Given the description of an element on the screen output the (x, y) to click on. 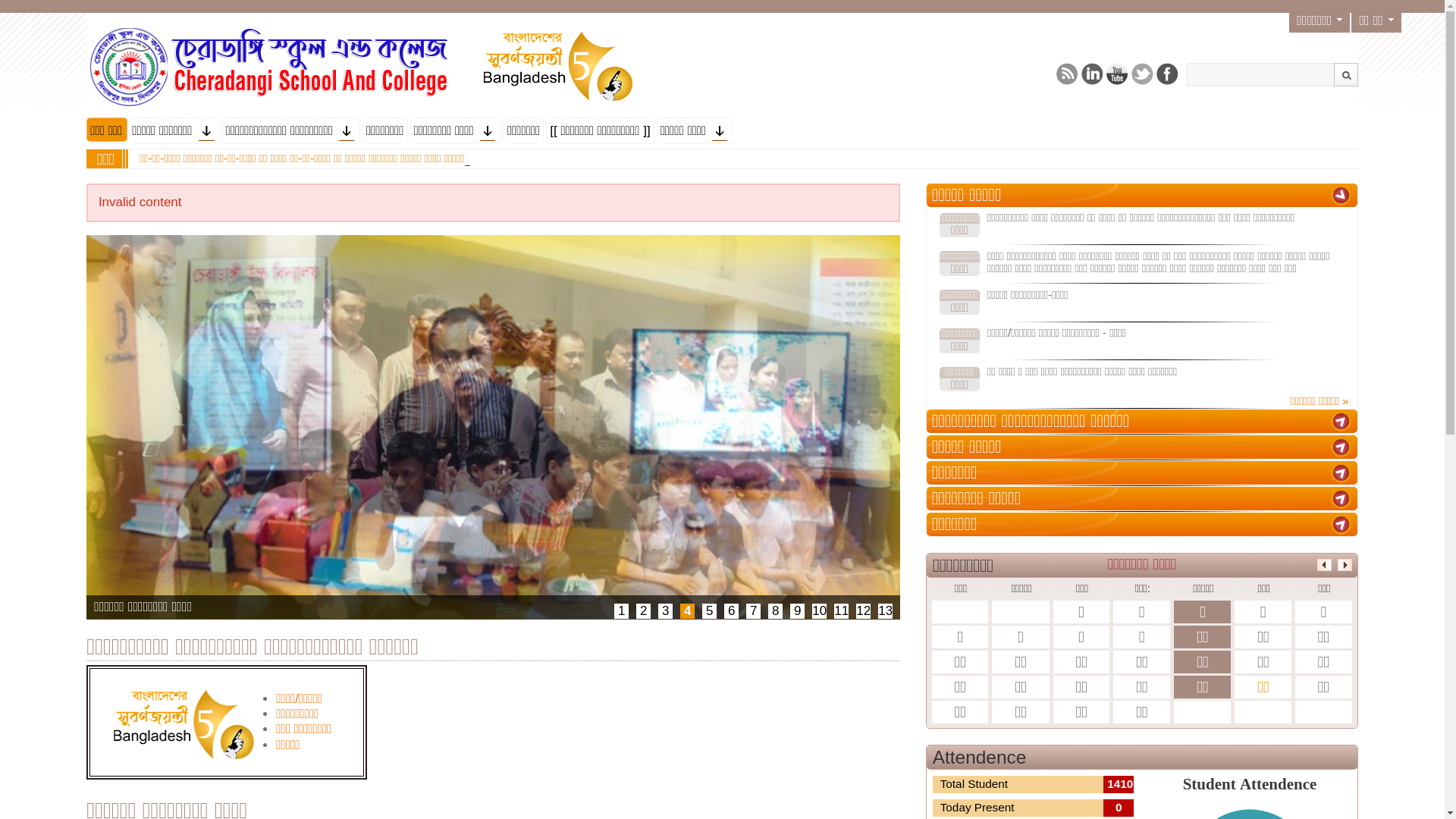
  Element type: text (1340, 446)
4 Element type: text (687, 610)
  Element type: text (1340, 498)
13 Element type: text (885, 610)
3 Element type: text (665, 610)
6 Element type: text (731, 610)
  Element type: text (1340, 195)
2 Element type: text (643, 610)
Submit Element type: text (1345, 74)
  Element type: text (1340, 421)
11 Element type: text (841, 610)
  Element type: text (1340, 524)
10 Element type: text (819, 610)
9 Element type: text (797, 610)
  Element type: text (1340, 472)
7 Element type: text (753, 610)
8 Element type: text (775, 610)
12 Element type: text (863, 610)
1 Element type: text (621, 610)
5 Element type: text (709, 610)
